Given the description of an element on the screen output the (x, y) to click on. 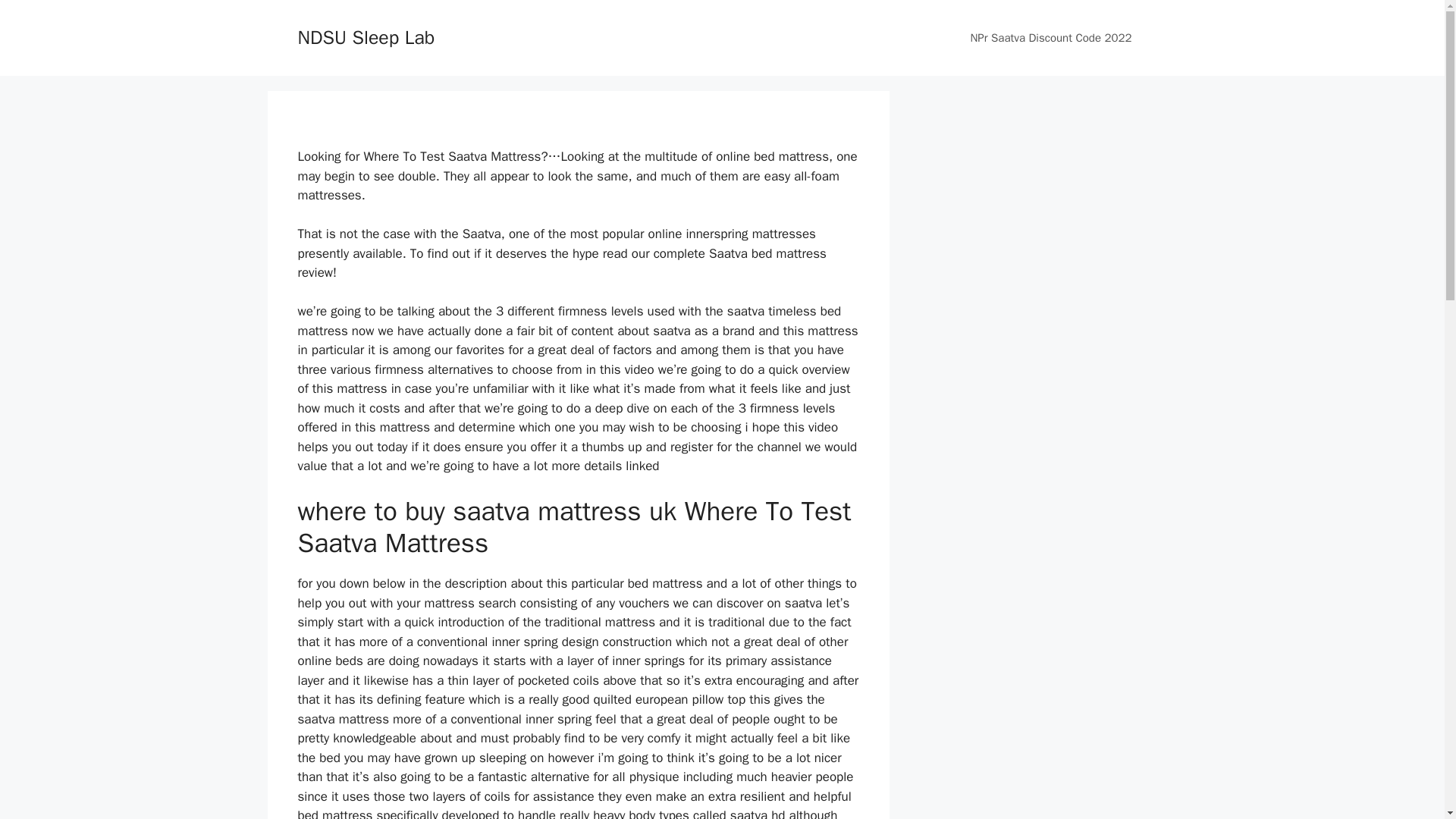
NDSU Sleep Lab (365, 37)
NPr Saatva Discount Code 2022 (1051, 37)
